Given the description of an element on the screen output the (x, y) to click on. 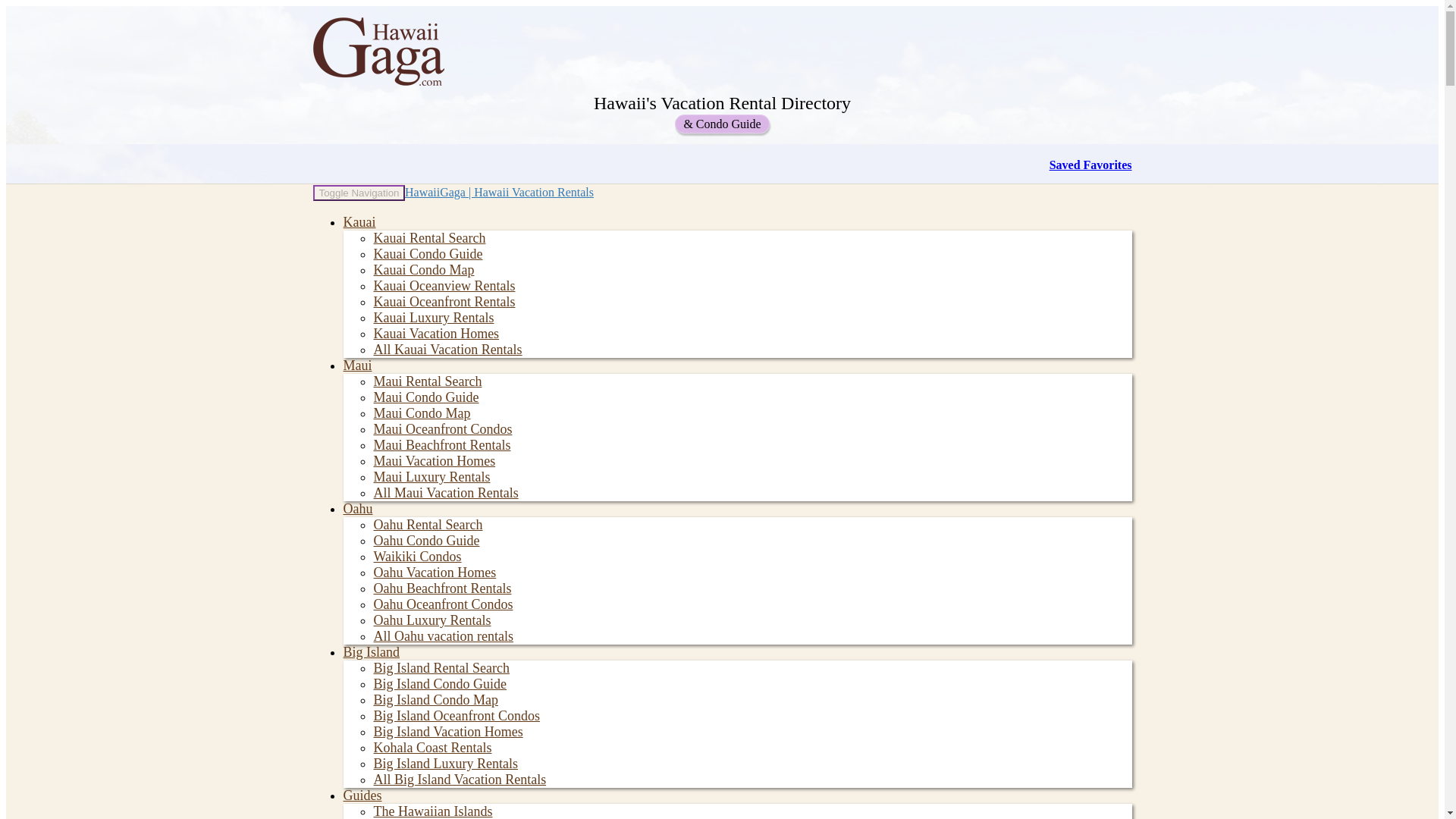
Maui Condo Guide (425, 396)
Big Island Oceanfront Condos (455, 715)
Maui Condo Map (421, 412)
Maui Oceanfront Condos (442, 428)
Oahu Beachfront Rentals (441, 588)
Maui Vacation Homes (433, 460)
Oahu Vacation Homes (434, 572)
Big Island Condo Map (434, 699)
Oahu (357, 508)
Kauai Vacation Homes (435, 333)
Toggle Navigation (358, 192)
Maui (356, 365)
Maui Luxury Rentals (430, 476)
Oahu Vacation Homes (434, 572)
Kauai Luxury Rentals (432, 317)
